Given the description of an element on the screen output the (x, y) to click on. 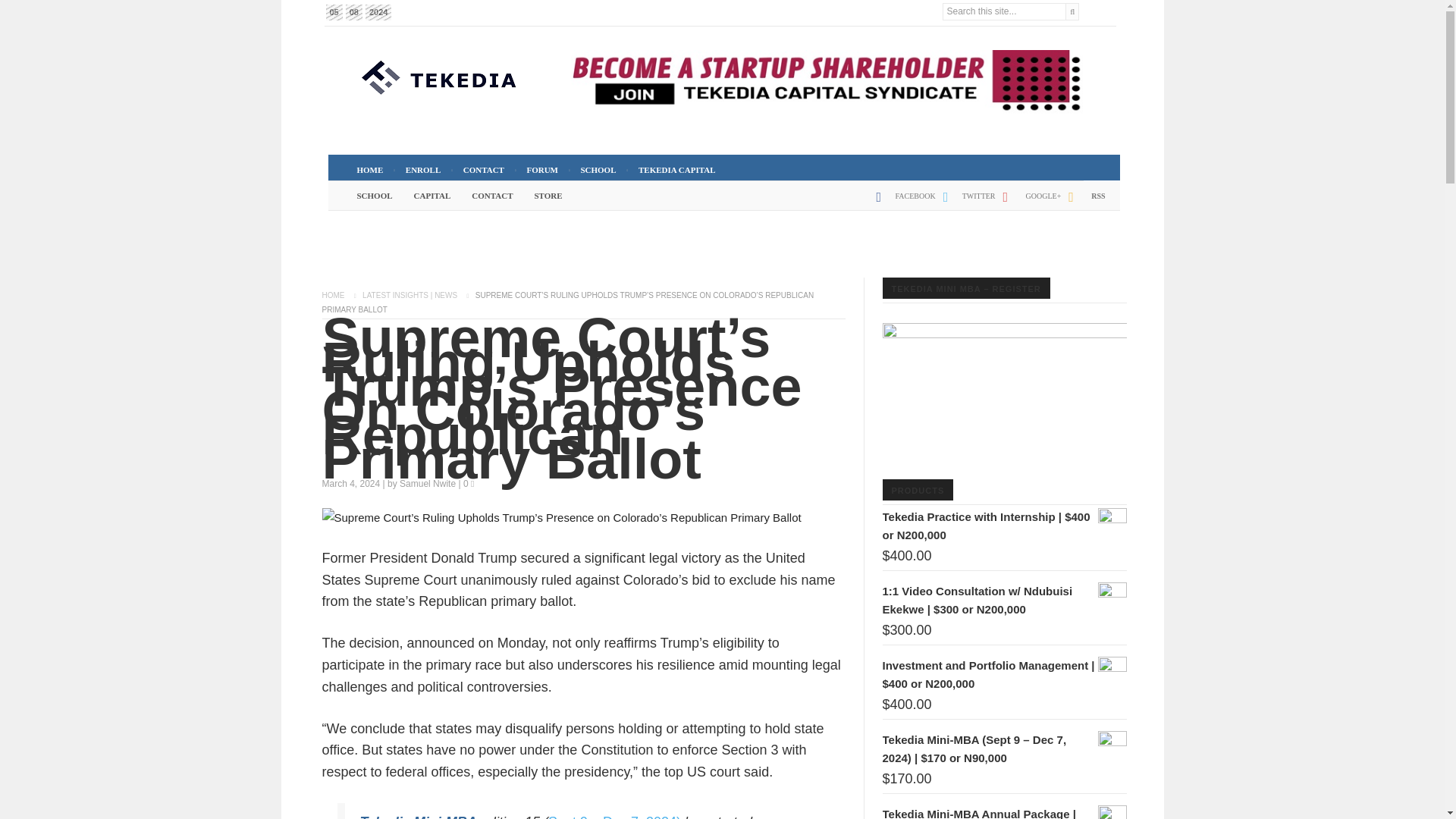
rss (1083, 201)
FORUM (542, 169)
facebook (902, 201)
ENROLL (422, 169)
CONTACT (483, 169)
HOME (369, 169)
twitter (965, 201)
google (1028, 201)
